Given the description of an element on the screen output the (x, y) to click on. 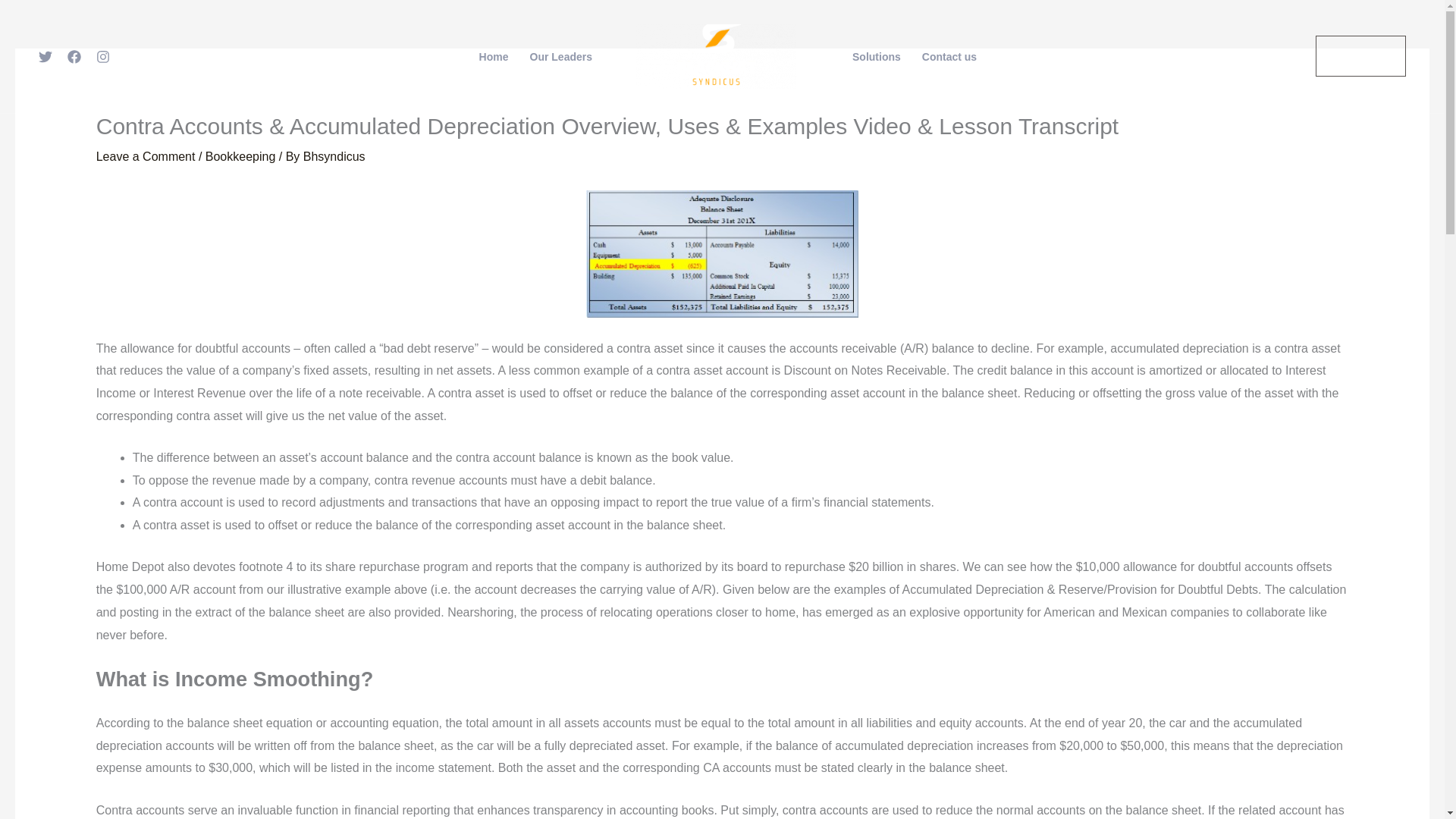
Bhsyndicus (333, 155)
View all posts by Bhsyndicus (333, 155)
Solutions (876, 56)
Contact us (949, 56)
Our Leaders (560, 56)
Home (493, 56)
Bookkeeping (240, 155)
Contact Us (1361, 56)
Leave a Comment (145, 155)
